Given the description of an element on the screen output the (x, y) to click on. 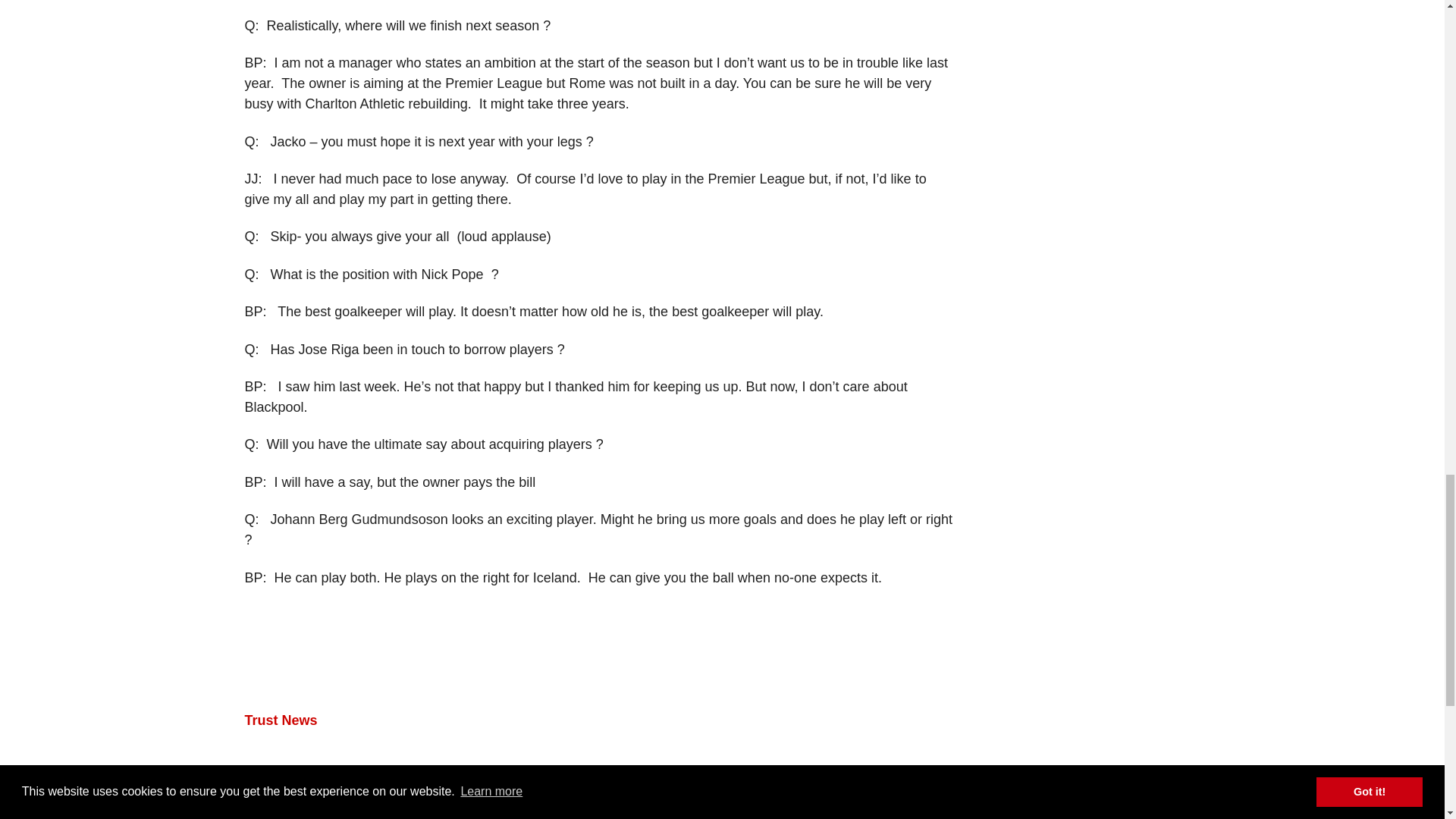
CASTrust-Site-Icon (722, 791)
FSA (559, 806)
Trust News (280, 720)
